Given the description of an element on the screen output the (x, y) to click on. 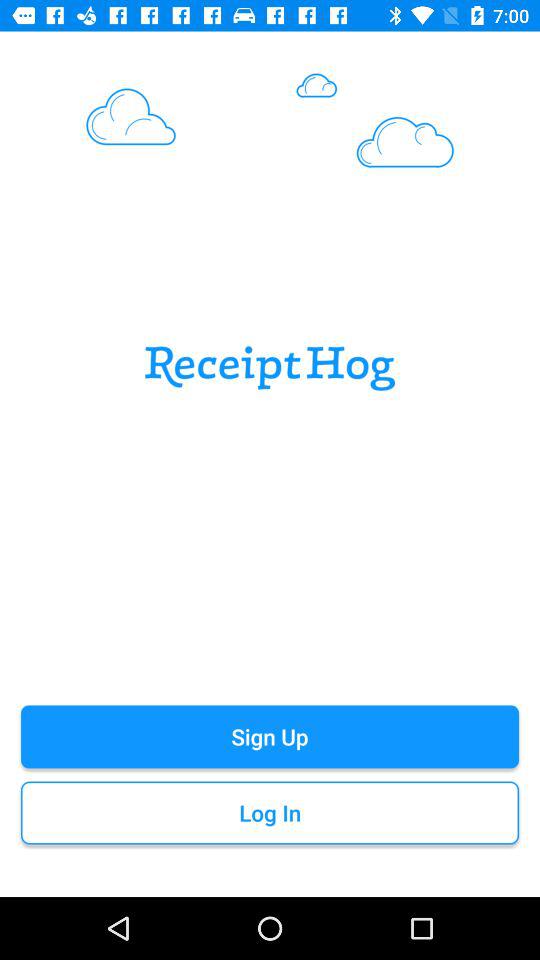
select log in icon (270, 812)
